Given the description of an element on the screen output the (x, y) to click on. 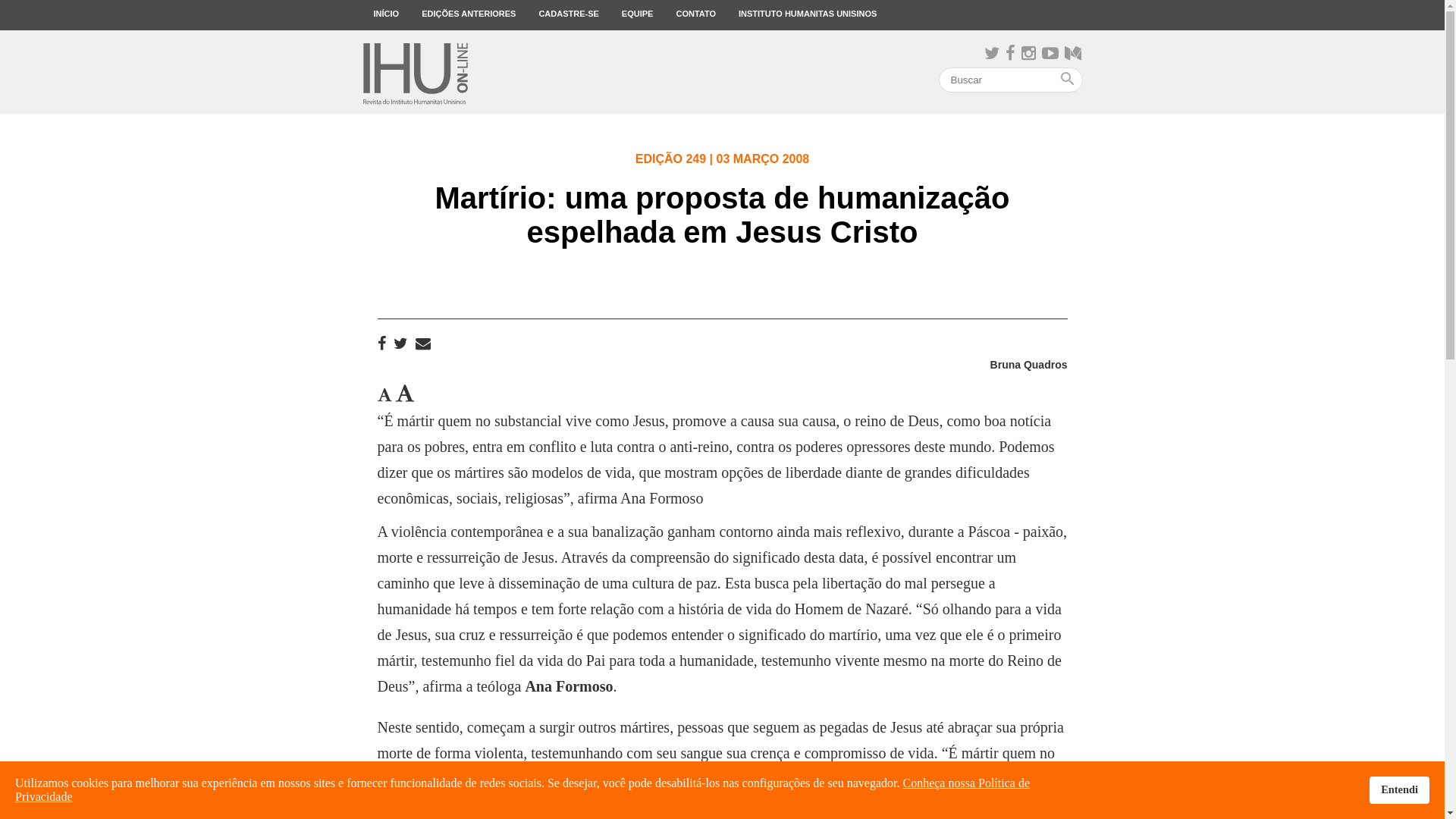
CADASTRE-SE Element type: text (568, 15)
EQUIPE Element type: text (637, 15)
Entendi Element type: text (1399, 789)
INSTITUTO HUMANITAS UNISINOS Element type: text (807, 15)
CONTATO Element type: text (695, 15)
